Given the description of an element on the screen output the (x, y) to click on. 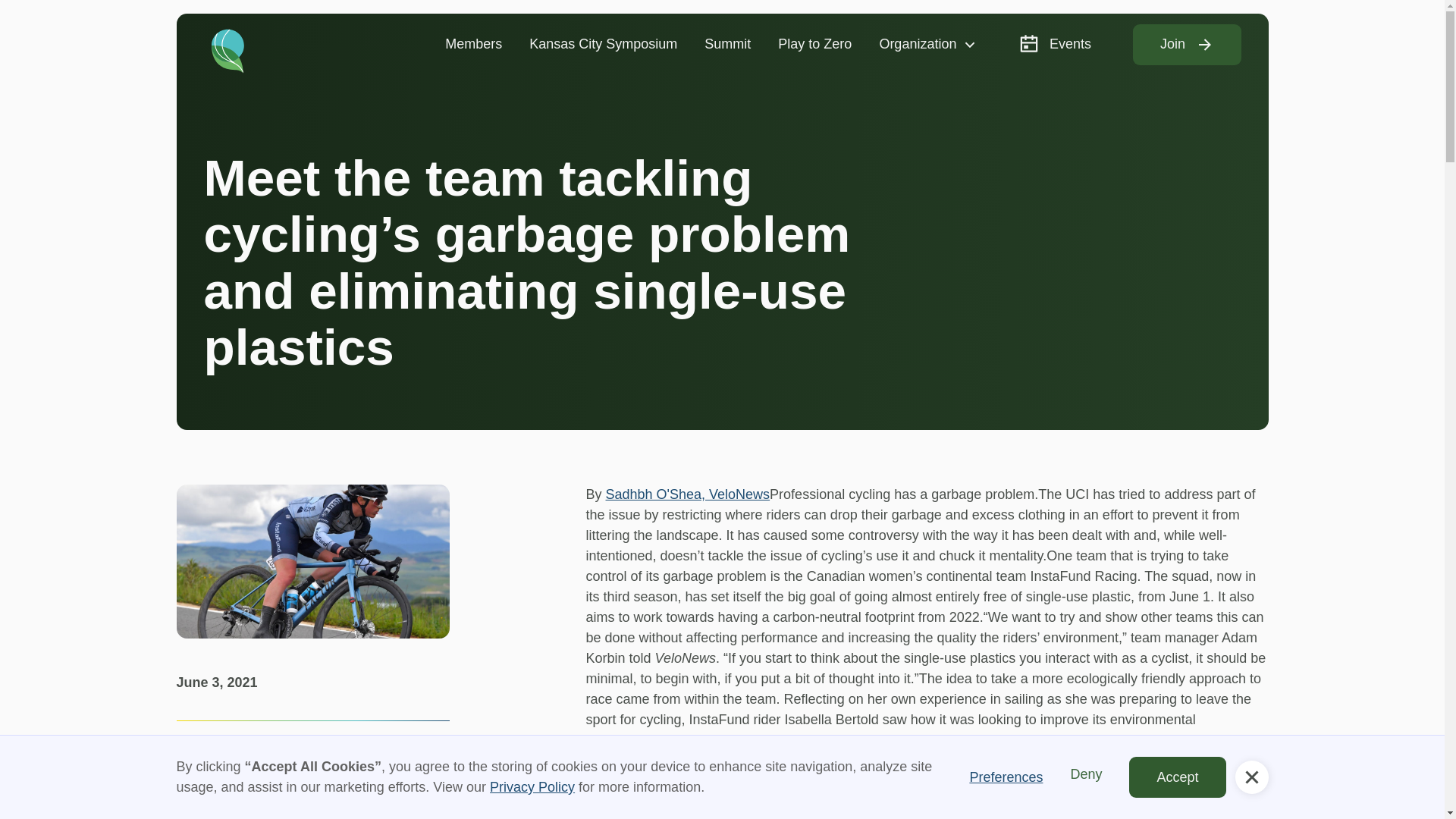
Sadhbh O'Shea, VeloNews (687, 494)
Kansas City Symposium (602, 44)
Members (472, 44)
Events (1054, 43)
Play to Zero (814, 44)
Join (1186, 44)
Summit (727, 44)
